Given the description of an element on the screen output the (x, y) to click on. 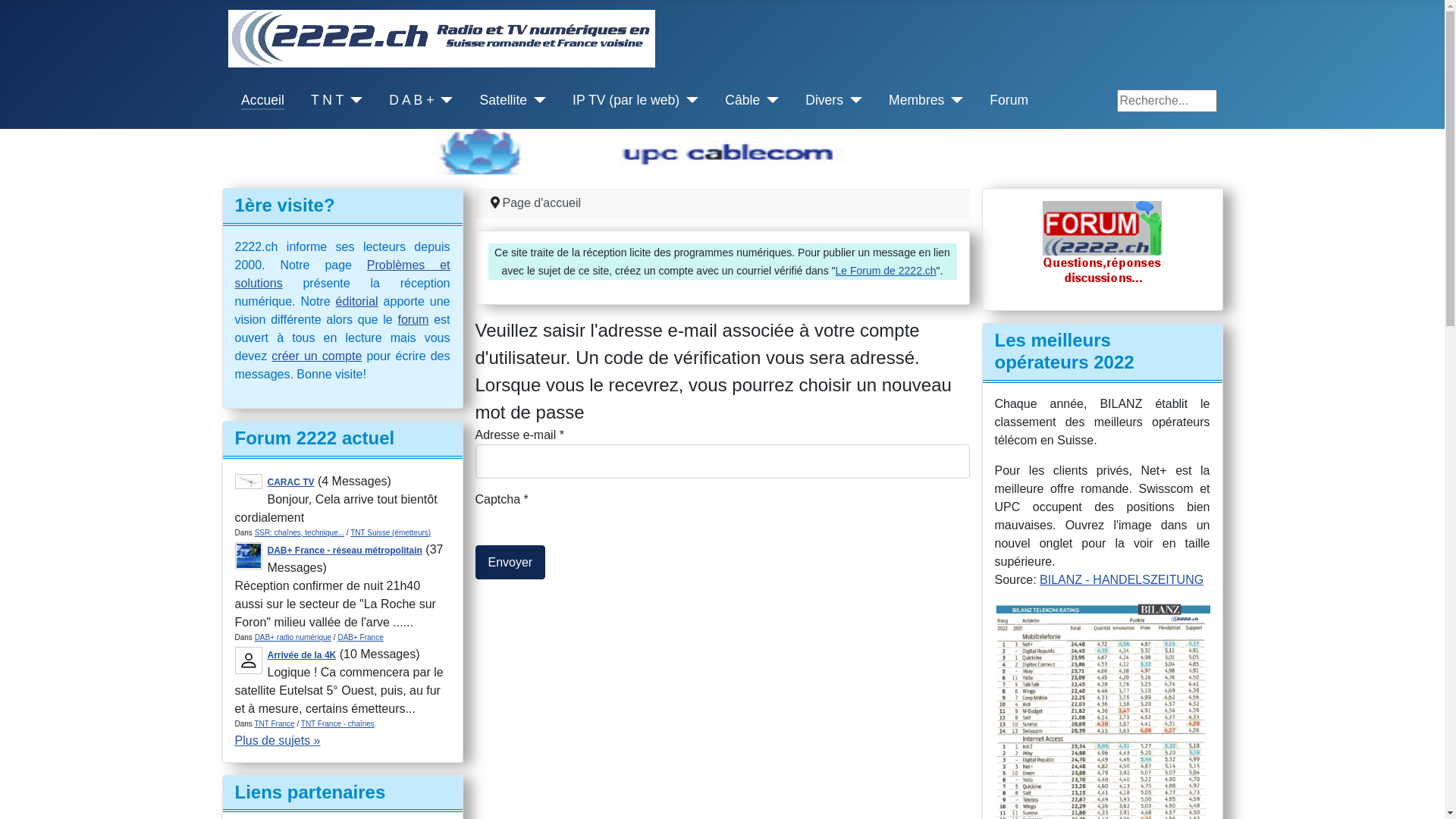
CARAC TV Element type: text (289, 481)
T N T Element type: text (326, 99)
IP TV (par le web) Element type: text (625, 99)
Consulter le profil de leman Element type: hover (249, 554)
Envoyer Element type: text (509, 562)
Membres Element type: text (916, 99)
TNT France Element type: text (274, 723)
Consulter le profil de laurent Element type: hover (249, 480)
forum Element type: text (412, 319)
Le Forum de 2222.ch Element type: text (885, 270)
Accueil Element type: text (262, 99)
BILANZ - HANDELSZEITUNG Element type: text (1121, 579)
DAB+ France Element type: text (359, 637)
Forum Element type: text (1008, 99)
Consulter le profil de BAISIN Element type: hover (249, 658)
Divers Element type: text (824, 99)
Satellite Element type: text (503, 99)
D A B + Element type: text (411, 99)
